Given the description of an element on the screen output the (x, y) to click on. 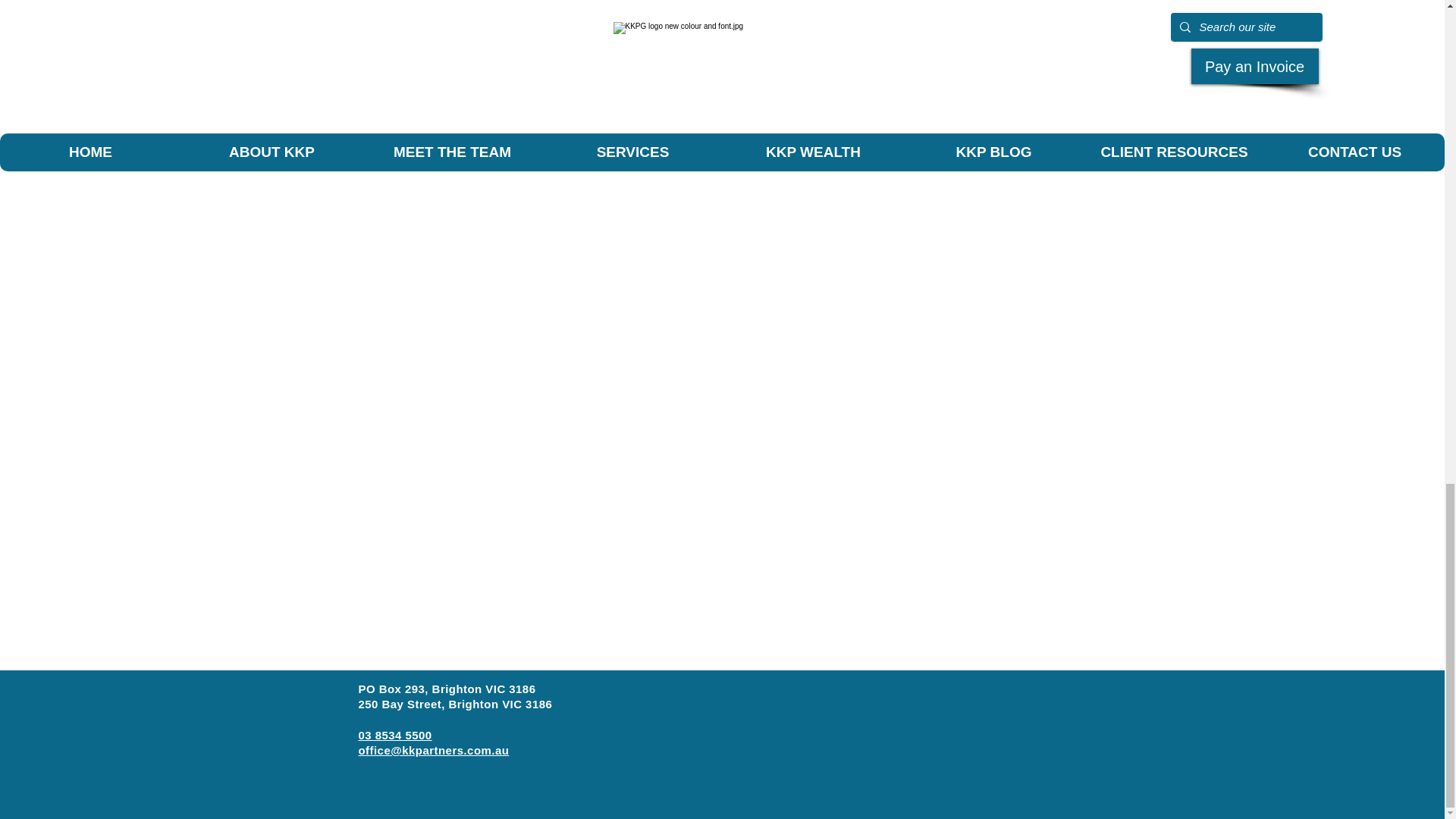
03 8534 5500 (394, 735)
